Given the description of an element on the screen output the (x, y) to click on. 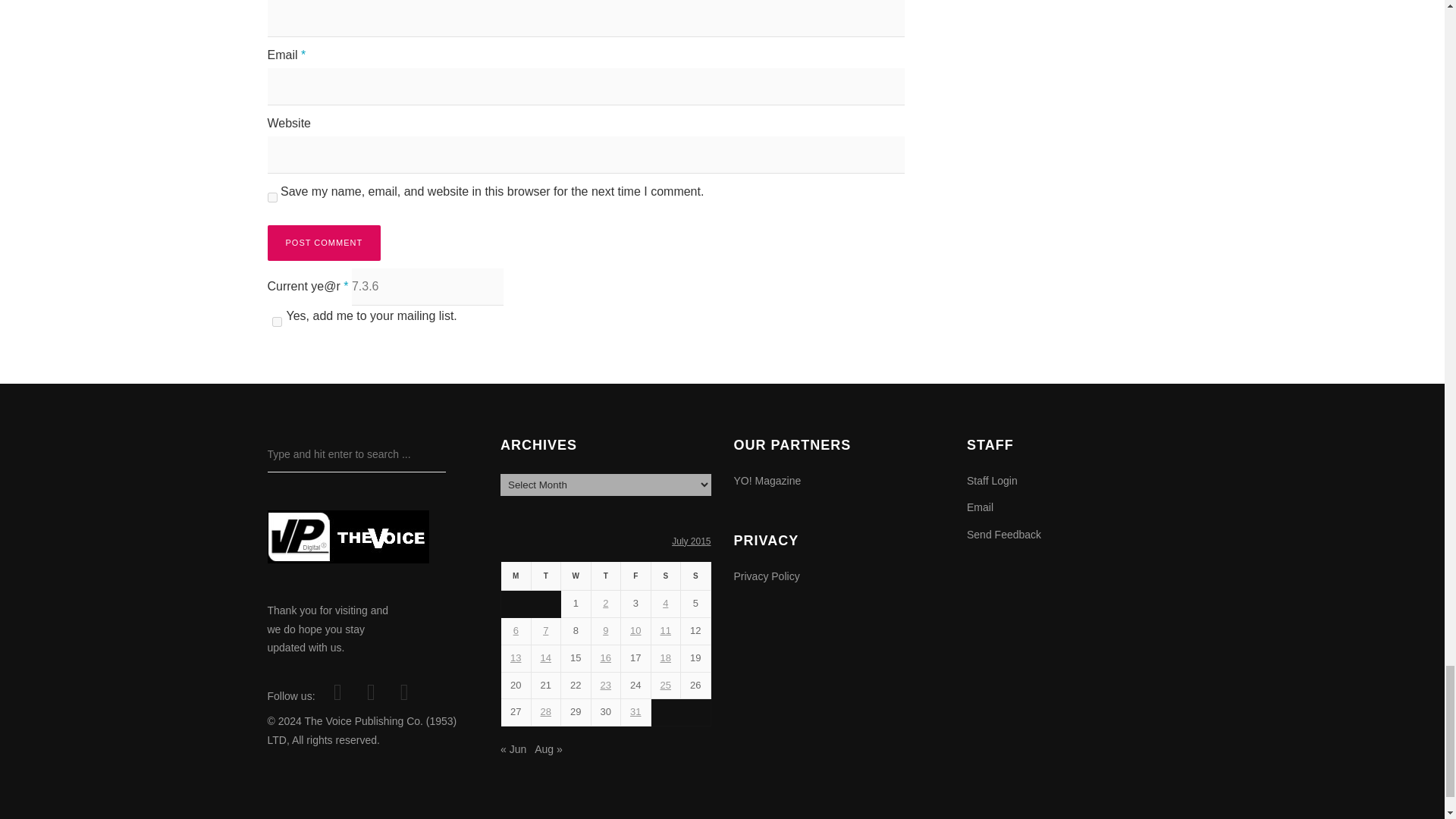
Type and hit enter to search ... (355, 454)
7.3.6 (427, 286)
Type and hit enter to search ... (355, 454)
Post Comment (323, 243)
1 (275, 321)
yes (271, 197)
